Given the description of an element on the screen output the (x, y) to click on. 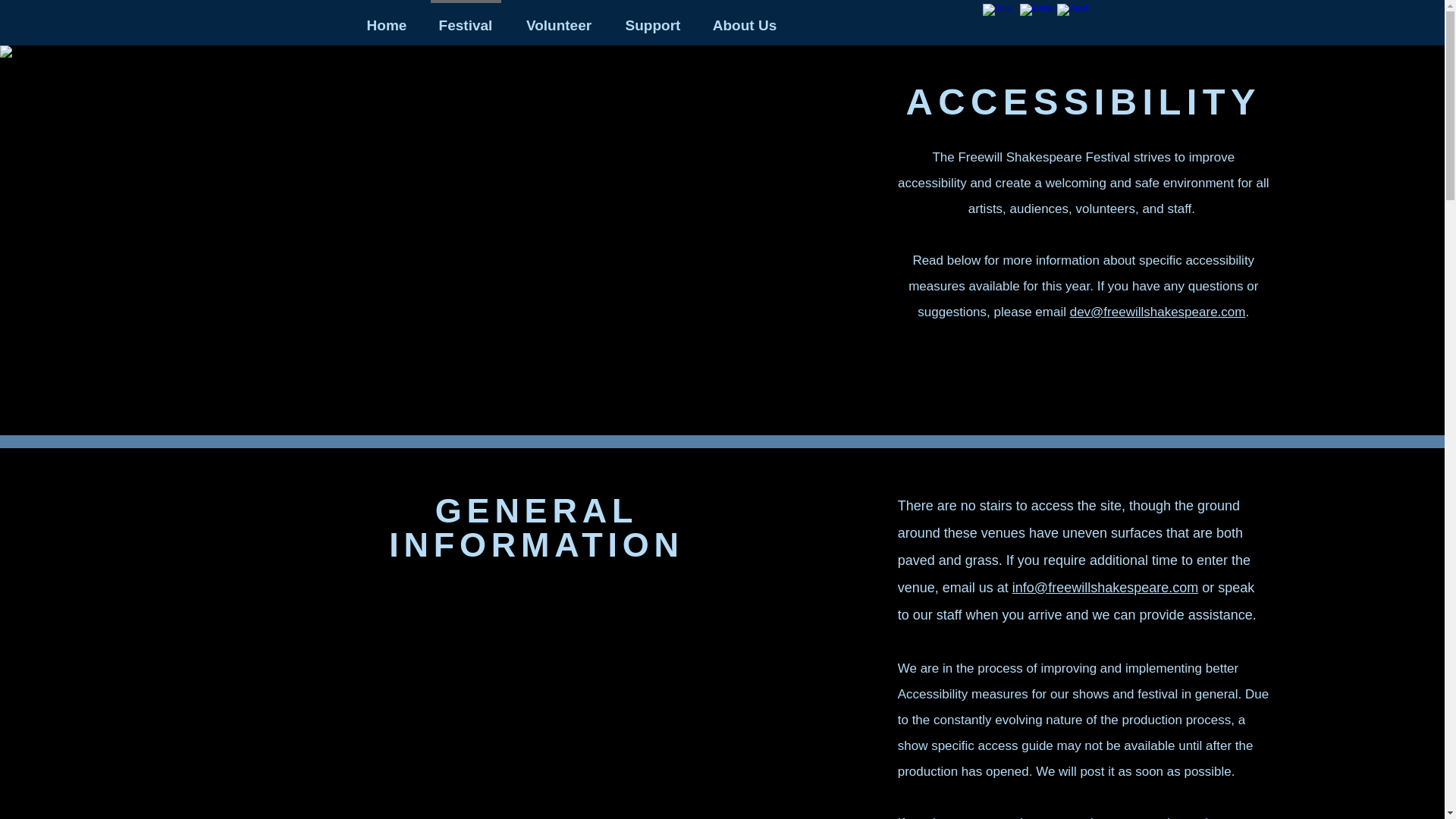
Support (653, 18)
Home (386, 18)
Volunteer (558, 18)
Festival (465, 18)
About Us (743, 18)
